Given the description of an element on the screen output the (x, y) to click on. 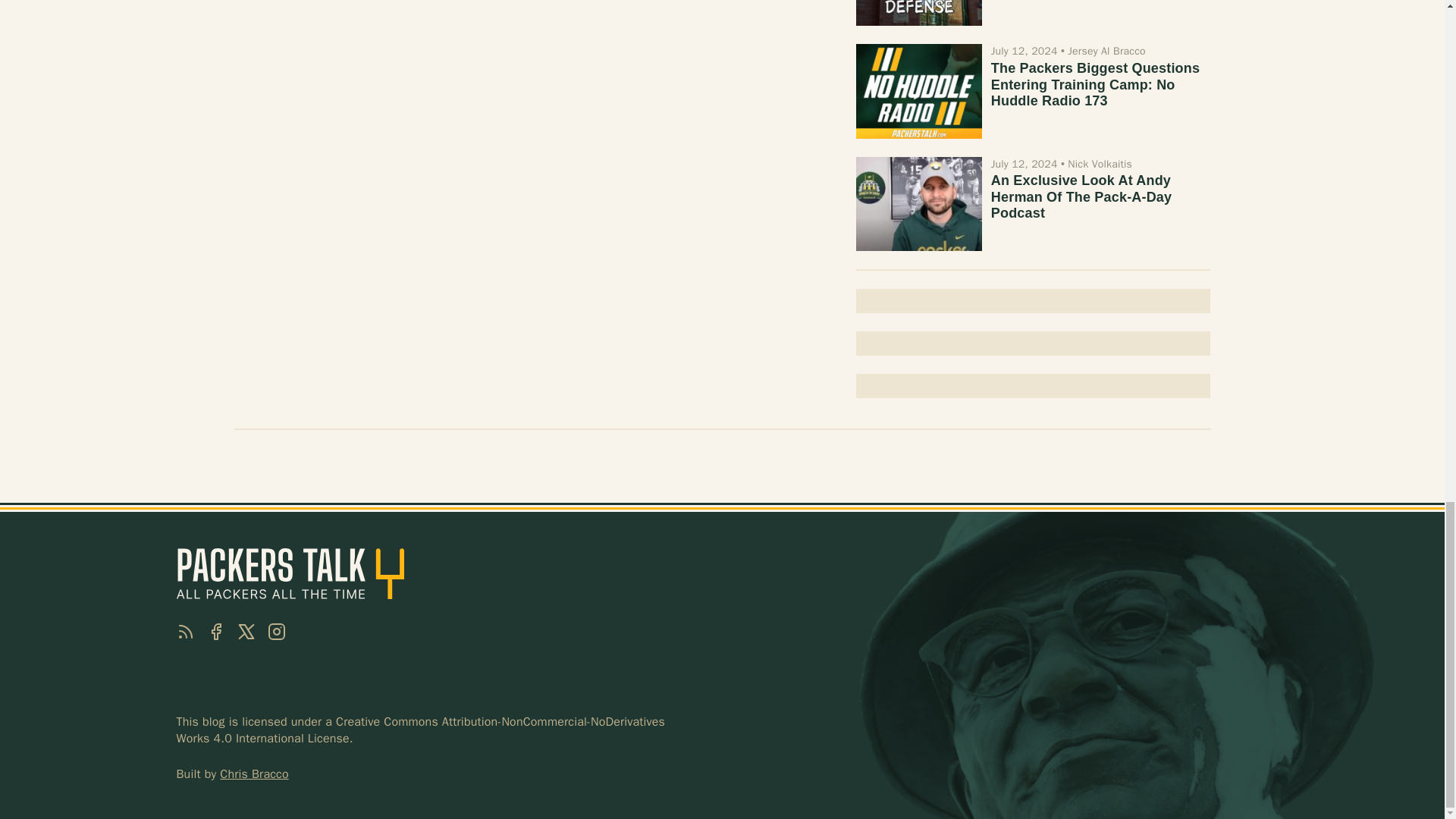
Jersey Al Bracco (1105, 51)
Nick Volkaitis (1099, 164)
RSS (184, 631)
Training Camp Primer: Focus Being on the Packers Defense! (918, 12)
An Exclusive Look At Andy Herman Of The Pack-A-Day Podcast (918, 203)
An Exclusive Look At Andy Herman Of The Pack-A-Day Podcast (1081, 196)
An Exclusive Look At Andy Herman Of The Pack-A-Day Podcast (1081, 196)
